Given the description of an element on the screen output the (x, y) to click on. 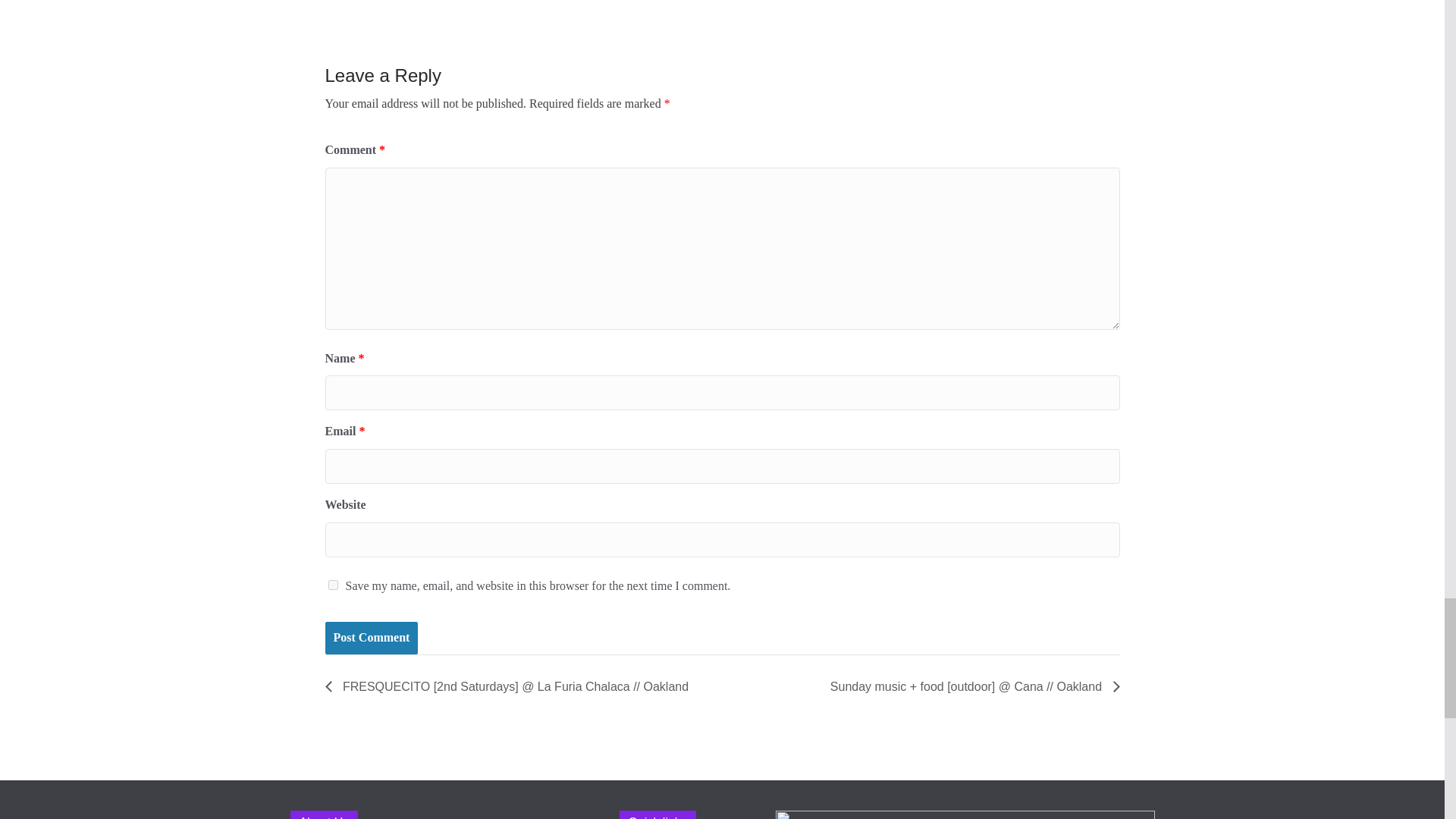
Post Comment (370, 637)
Post Comment (370, 637)
yes (332, 584)
